Given the description of an element on the screen output the (x, y) to click on. 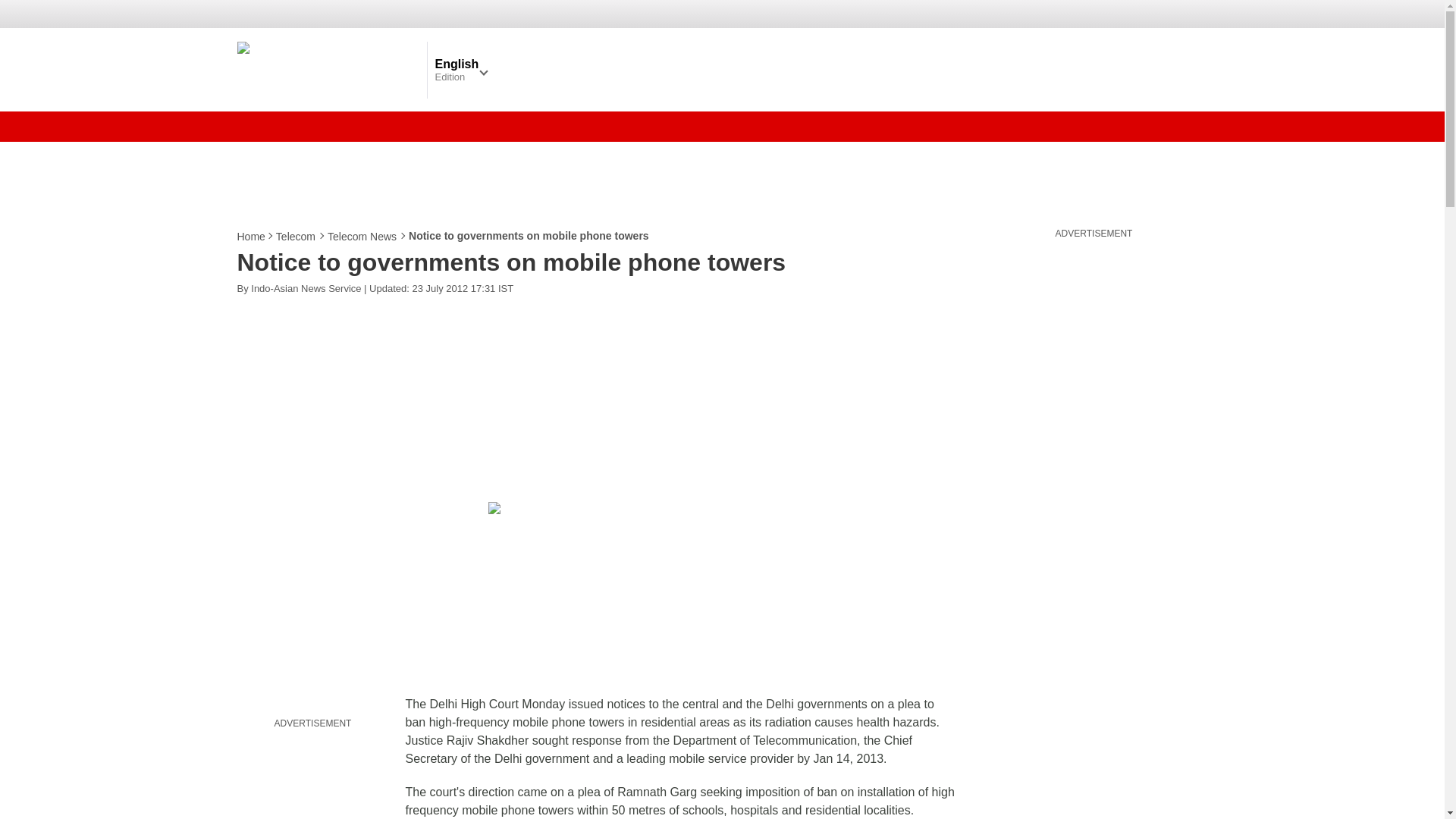
Telecom (296, 236)
Telecom News (362, 236)
Telecom (296, 236)
 Notice to governments on mobile phone towers (596, 508)
Gadgets 360 (327, 68)
Home (250, 236)
Telecom News (362, 236)
Home (250, 236)
